Given the description of an element on the screen output the (x, y) to click on. 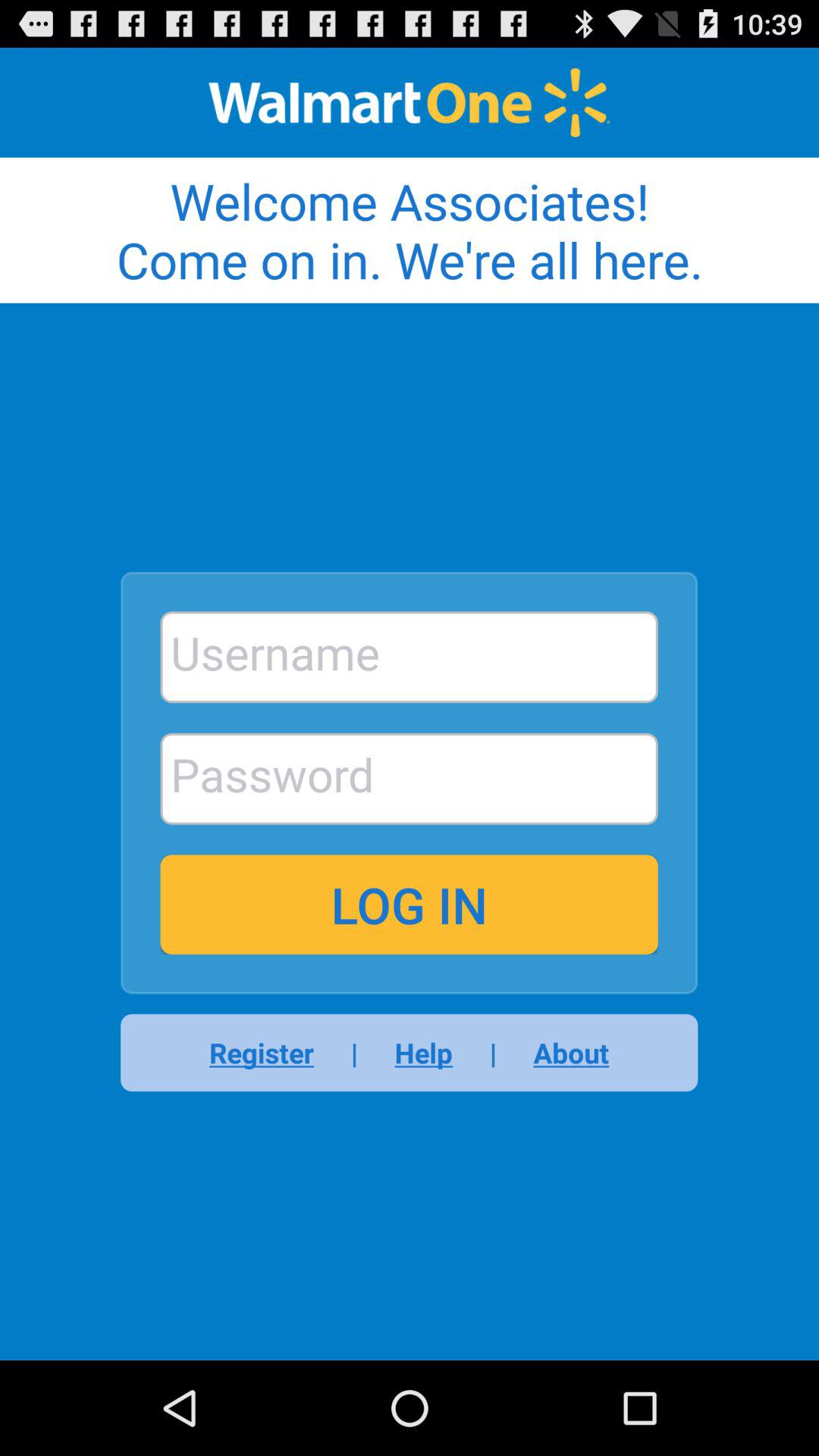
turn on the app at the bottom right corner (560, 1052)
